Given the description of an element on the screen output the (x, y) to click on. 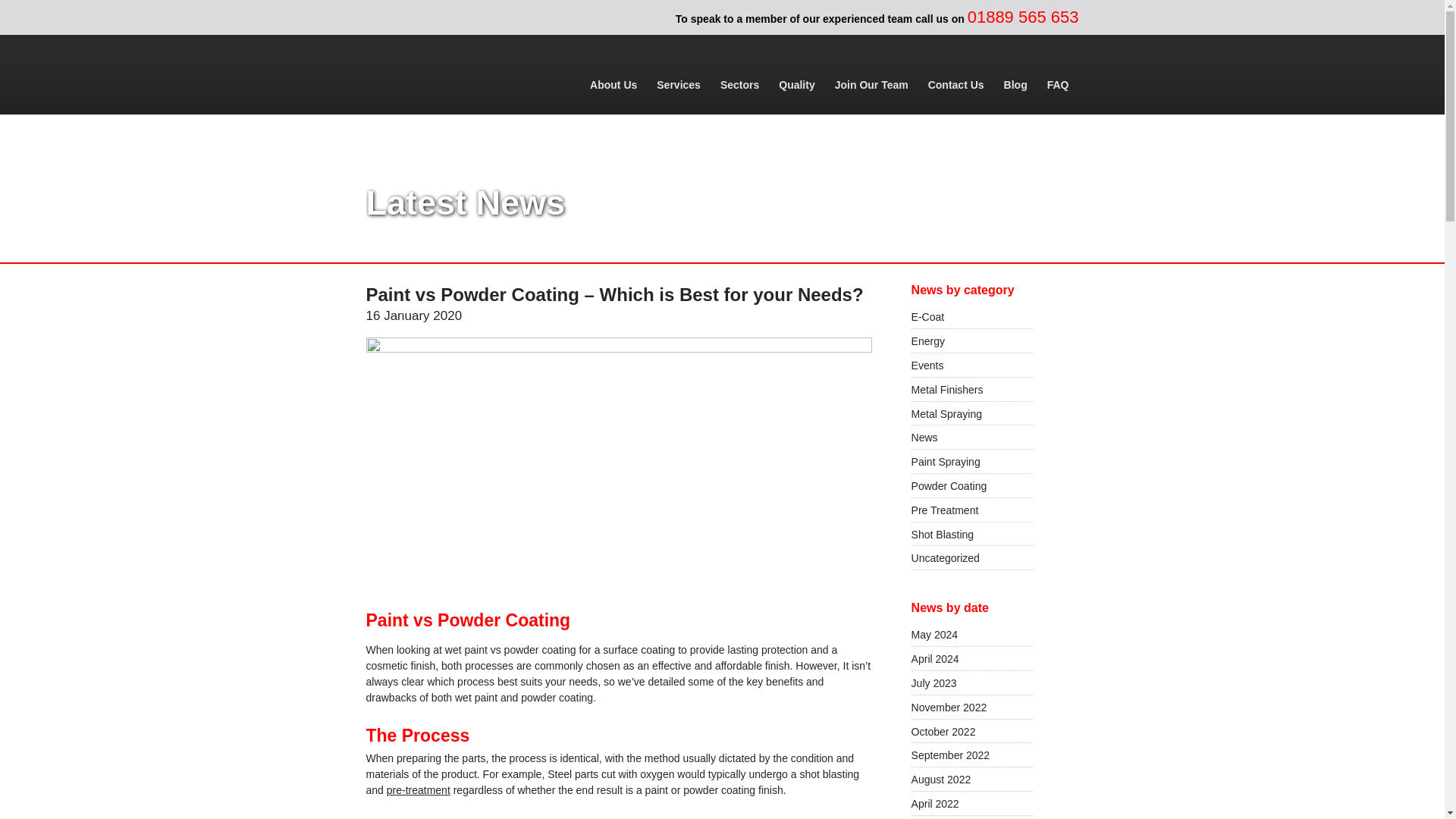
News (971, 436)
Blog (1015, 84)
Events (971, 364)
Metal Finishers (971, 389)
You Tube (471, 17)
pre-treatment (418, 789)
Metal Spraying (971, 413)
Twitter (441, 17)
Quality (796, 84)
Join Our Team (871, 84)
Sectors (739, 84)
FAQ (1058, 84)
Facebook (380, 17)
About Us (613, 84)
Energy (971, 340)
